Given the description of an element on the screen output the (x, y) to click on. 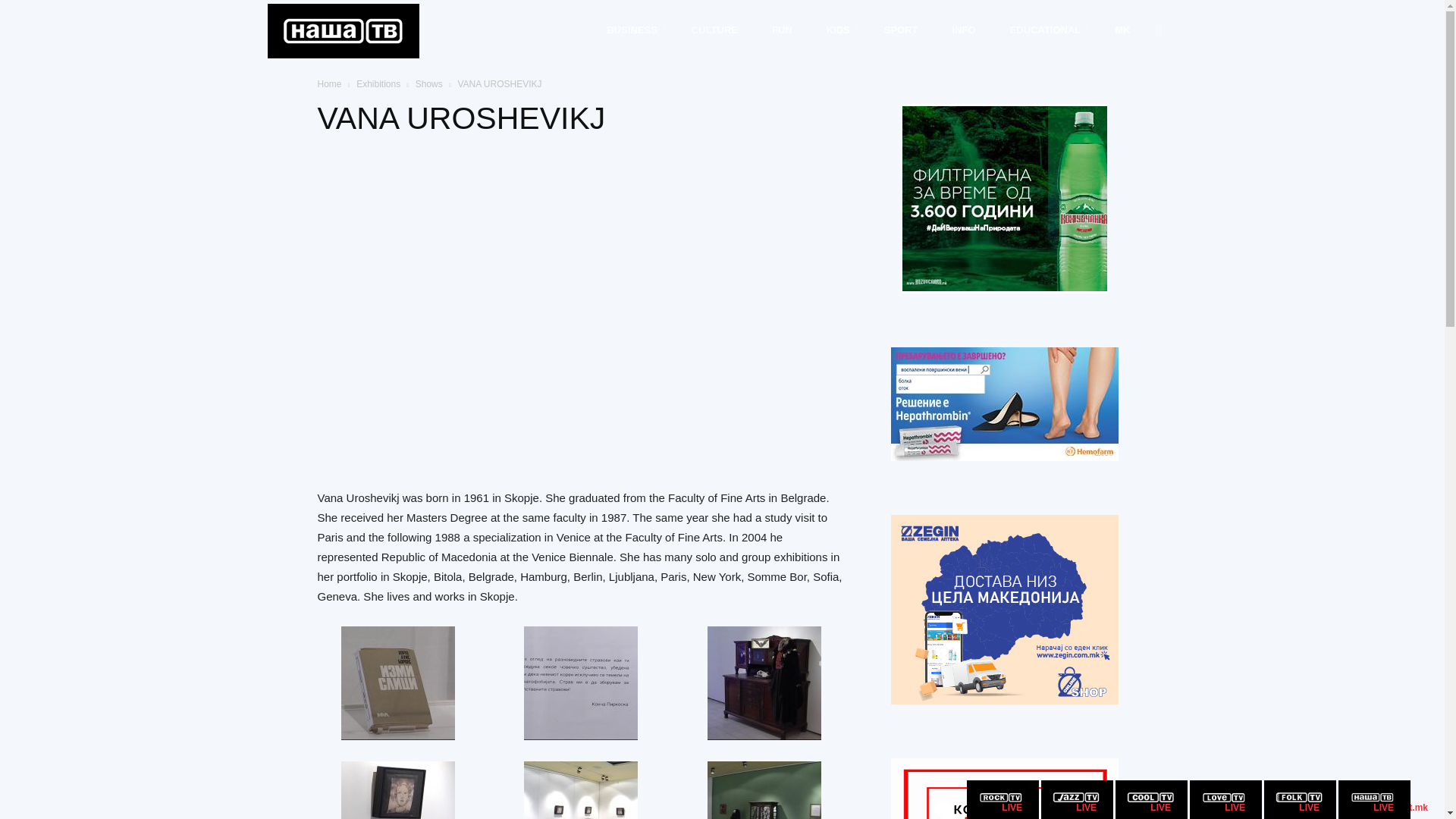
View all posts in Shows (428, 83)
